Given the description of an element on the screen output the (x, y) to click on. 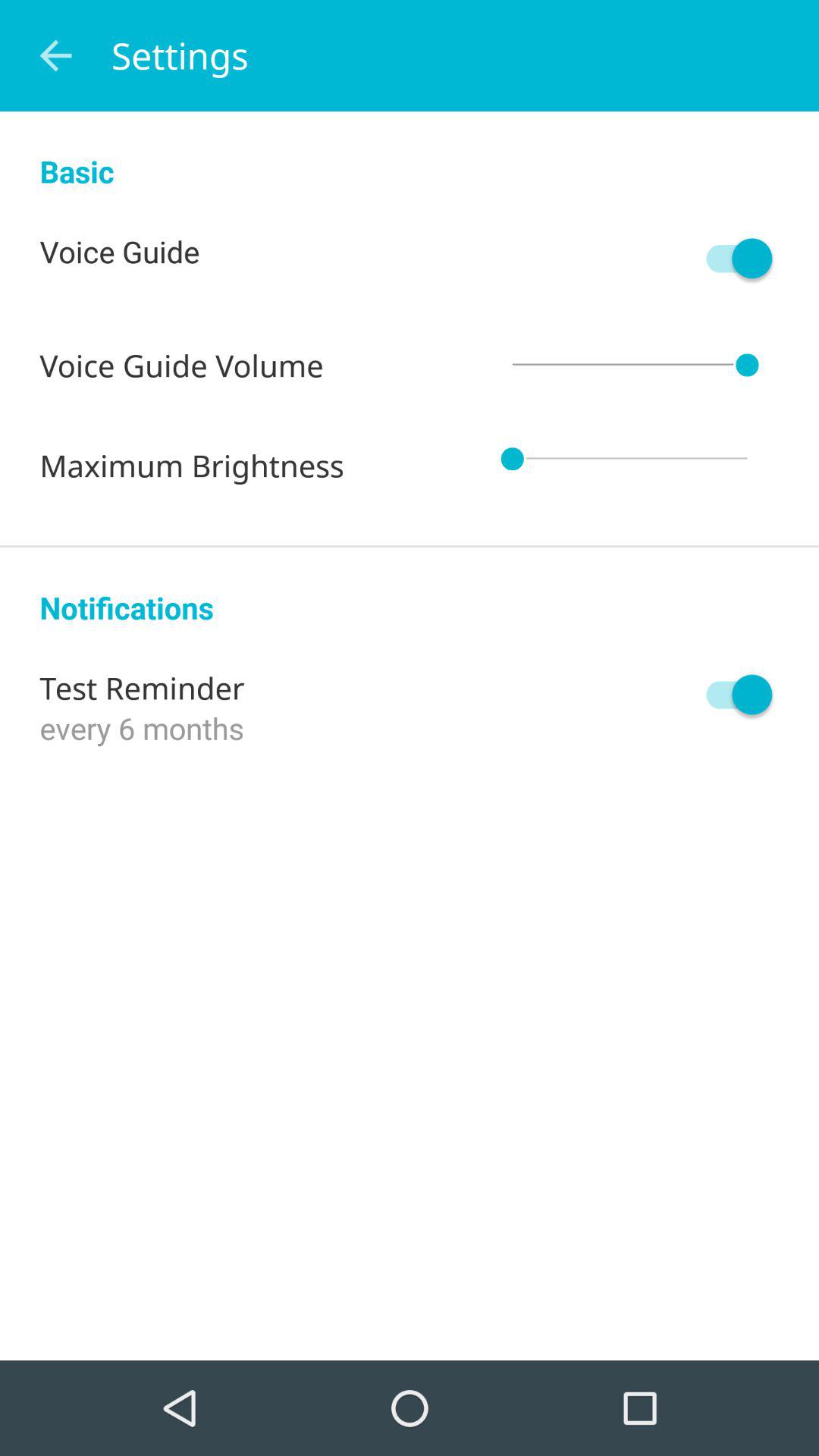
select voice guide (731, 258)
